Given the description of an element on the screen output the (x, y) to click on. 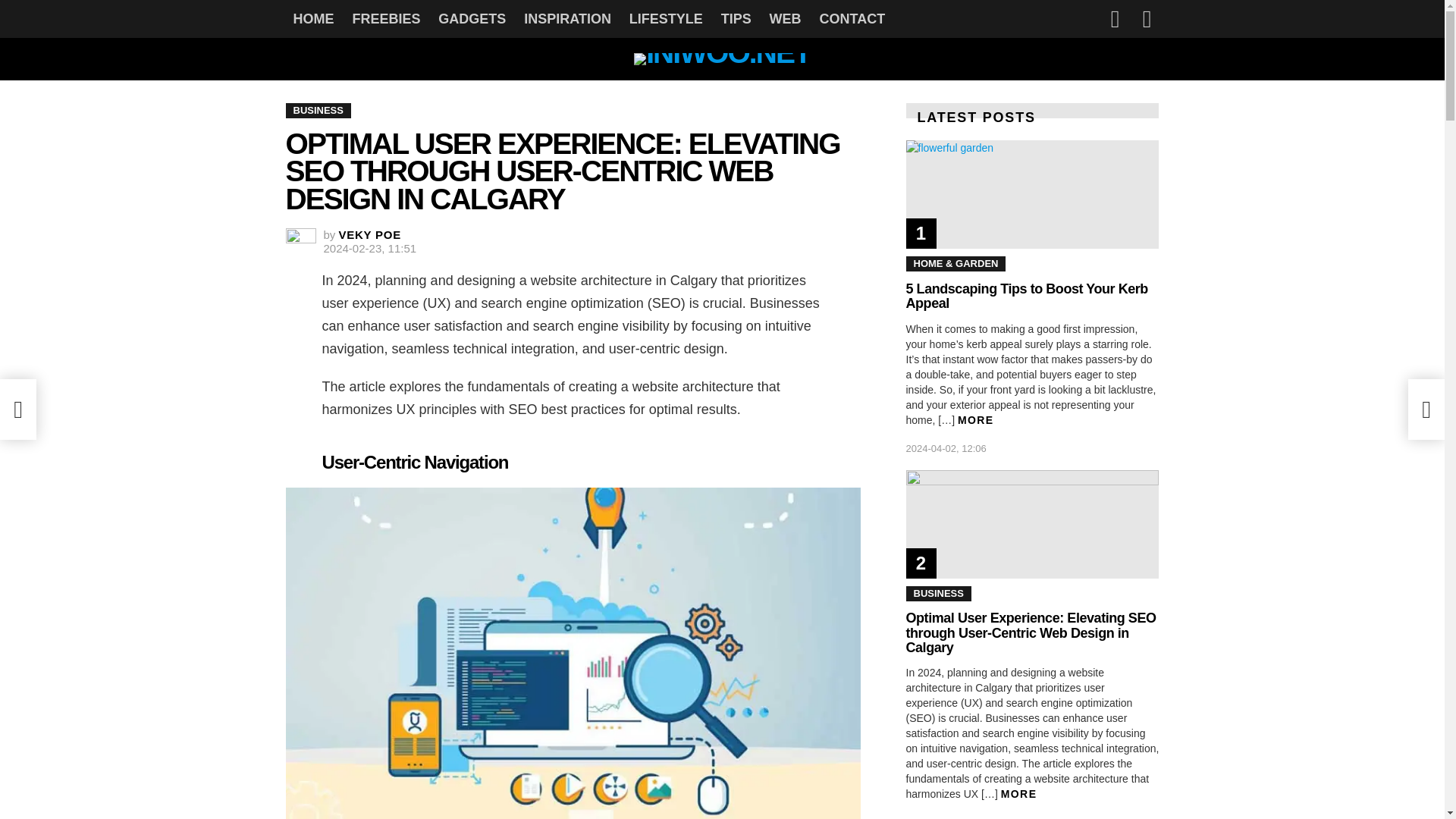
LIFESTYLE (665, 18)
WEB (785, 18)
Posts by Veky Poe (370, 234)
GADGETS (471, 18)
INSPIRATION (567, 18)
VEKY POE (370, 234)
CONTACT (851, 18)
TIPS (735, 18)
BUSINESS (317, 110)
HOME (312, 18)
FREEBIES (385, 18)
